Given the description of an element on the screen output the (x, y) to click on. 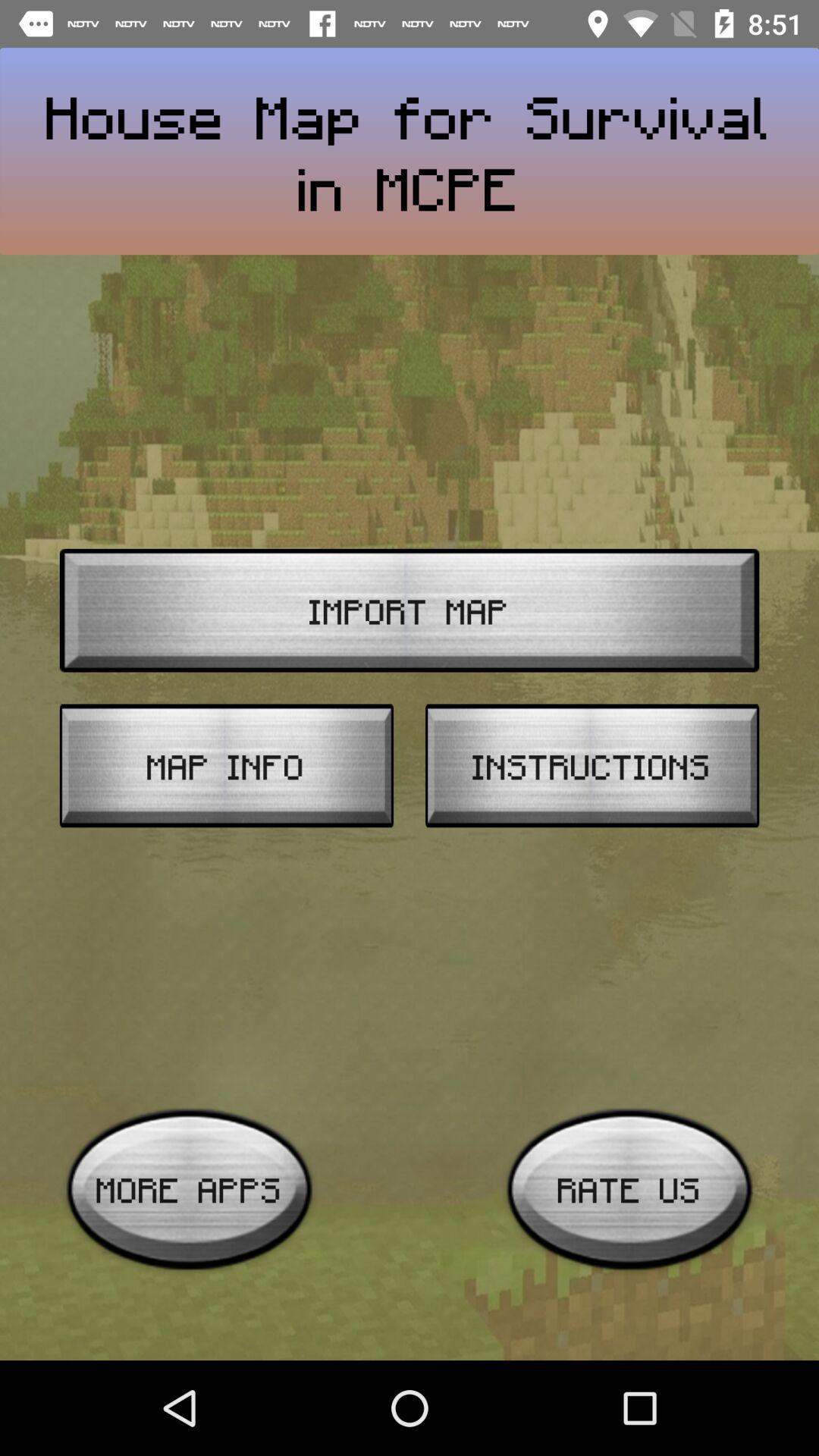
press the item below house map for item (409, 610)
